Given the description of an element on the screen output the (x, y) to click on. 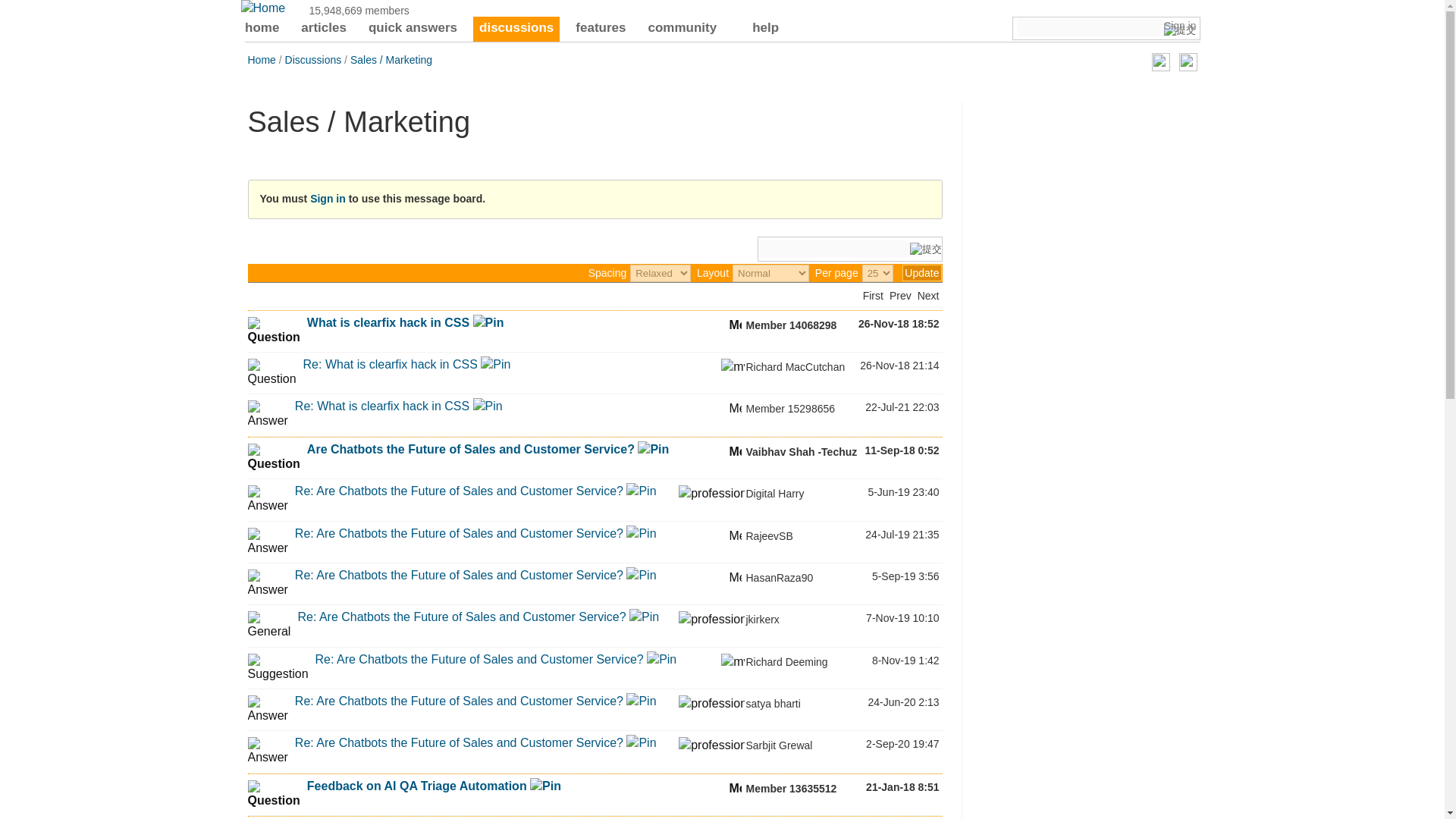
home (261, 29)
Click to pin message (495, 364)
Answer (266, 414)
Sign in (1179, 25)
articles (323, 29)
Most Valuable Expert (732, 366)
Question (273, 330)
Member (735, 322)
Question (271, 372)
Click to pin message (488, 322)
quick answers (412, 29)
Update (921, 272)
discussions (516, 29)
CodeProject (263, 8)
Click to pin message (487, 405)
